Given the description of an element on the screen output the (x, y) to click on. 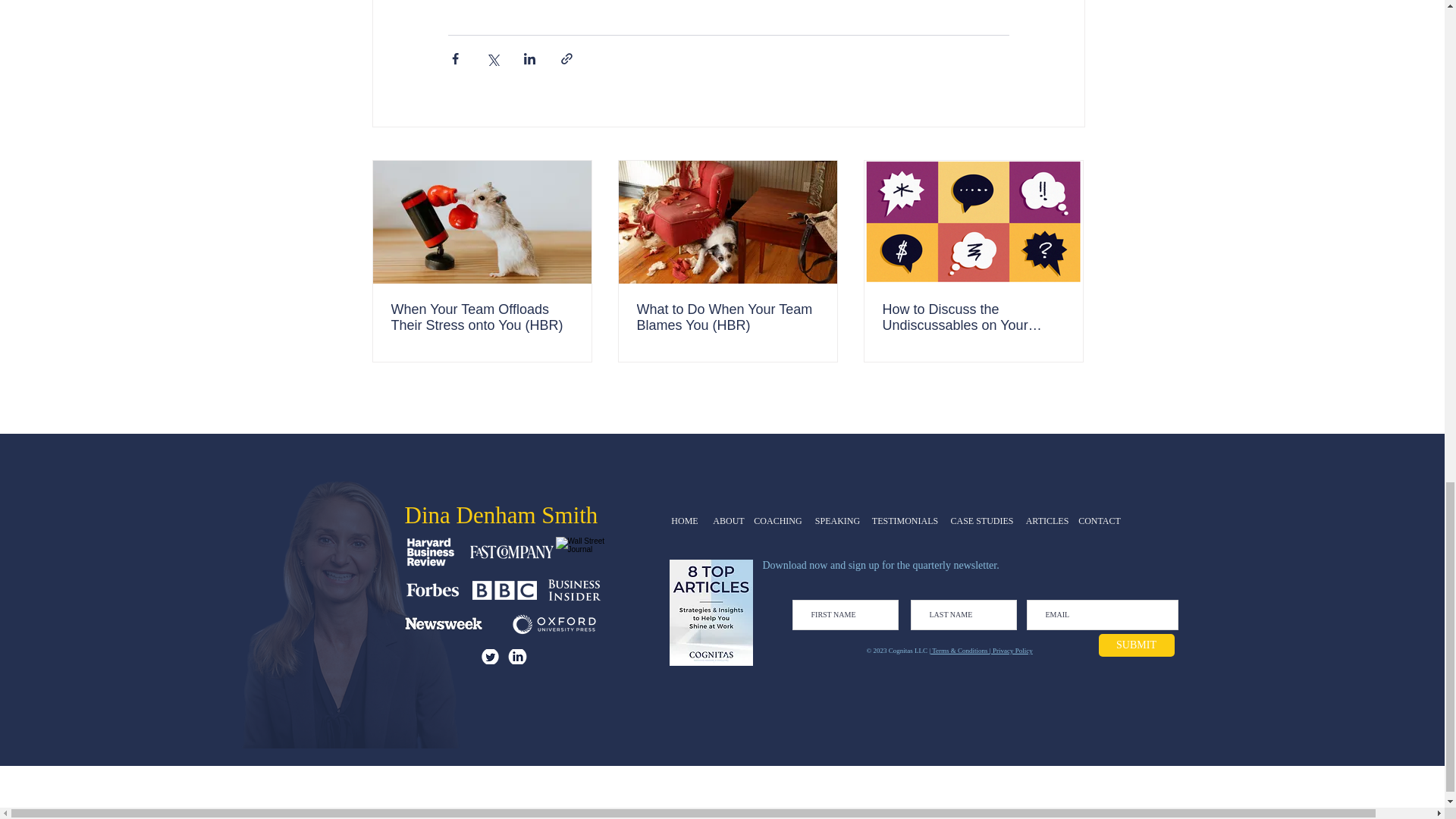
SPEAKING (837, 521)
HOME (684, 521)
CASE STUDIES (981, 521)
COACHING (778, 521)
TESTIMONIALS (905, 521)
CONTACT (1099, 521)
ARTICLES (1046, 521)
ABOUT (727, 521)
